Given the description of an element on the screen output the (x, y) to click on. 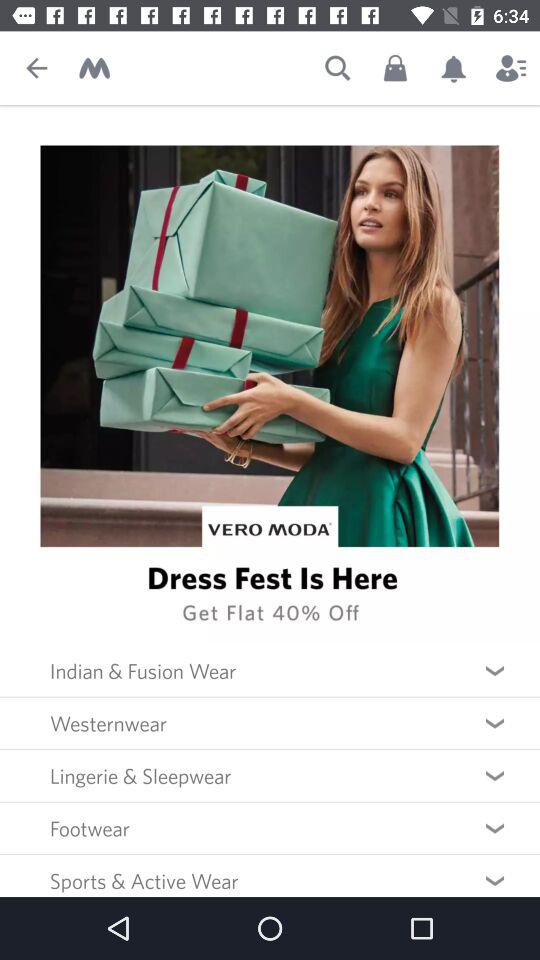
moda homepage (94, 68)
